Given the description of an element on the screen output the (x, y) to click on. 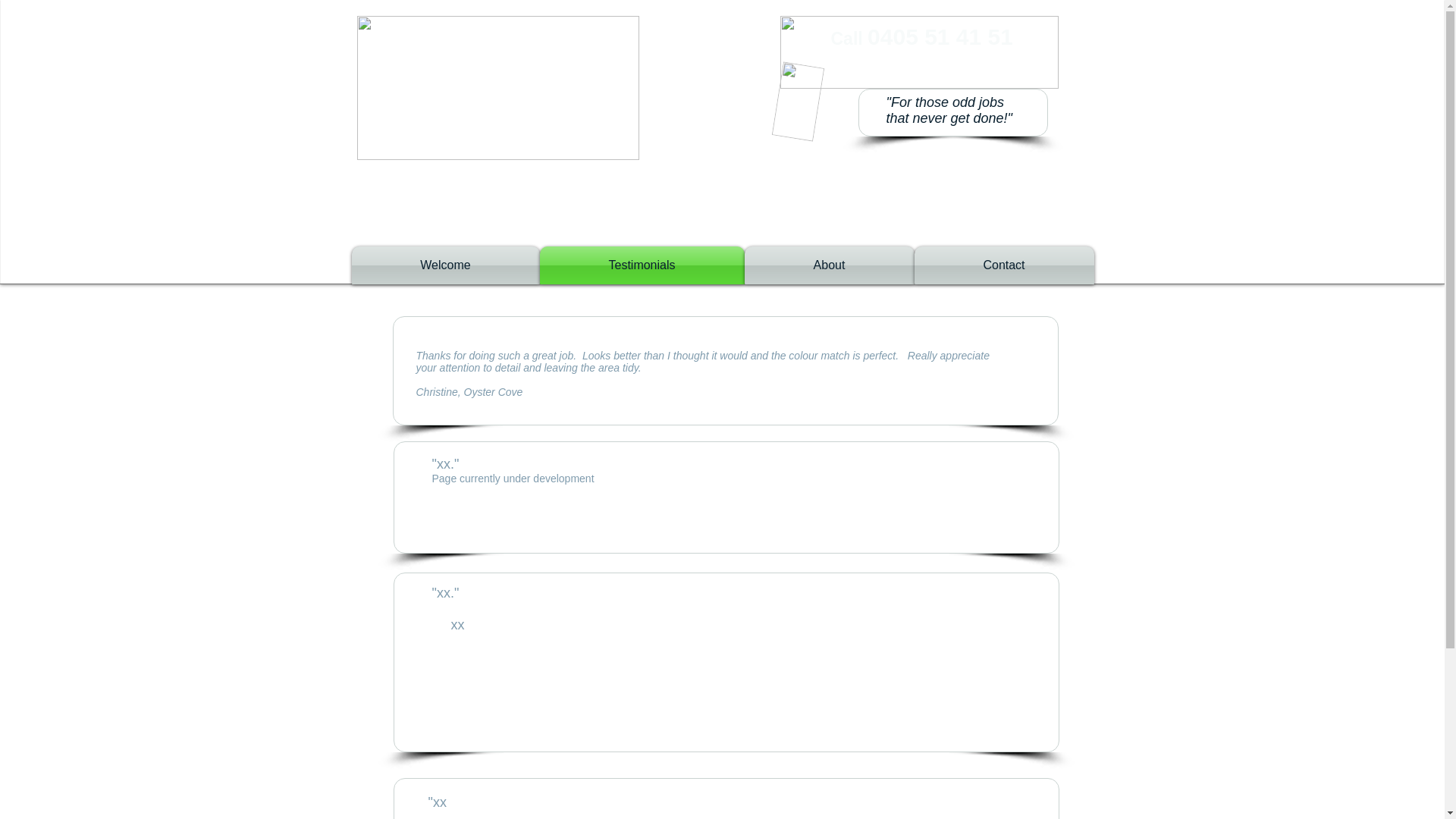
About Element type: text (829, 265)
Welcome Element type: text (445, 265)
Contact Element type: text (1004, 265)
Testimonials Element type: text (641, 265)
